Given the description of an element on the screen output the (x, y) to click on. 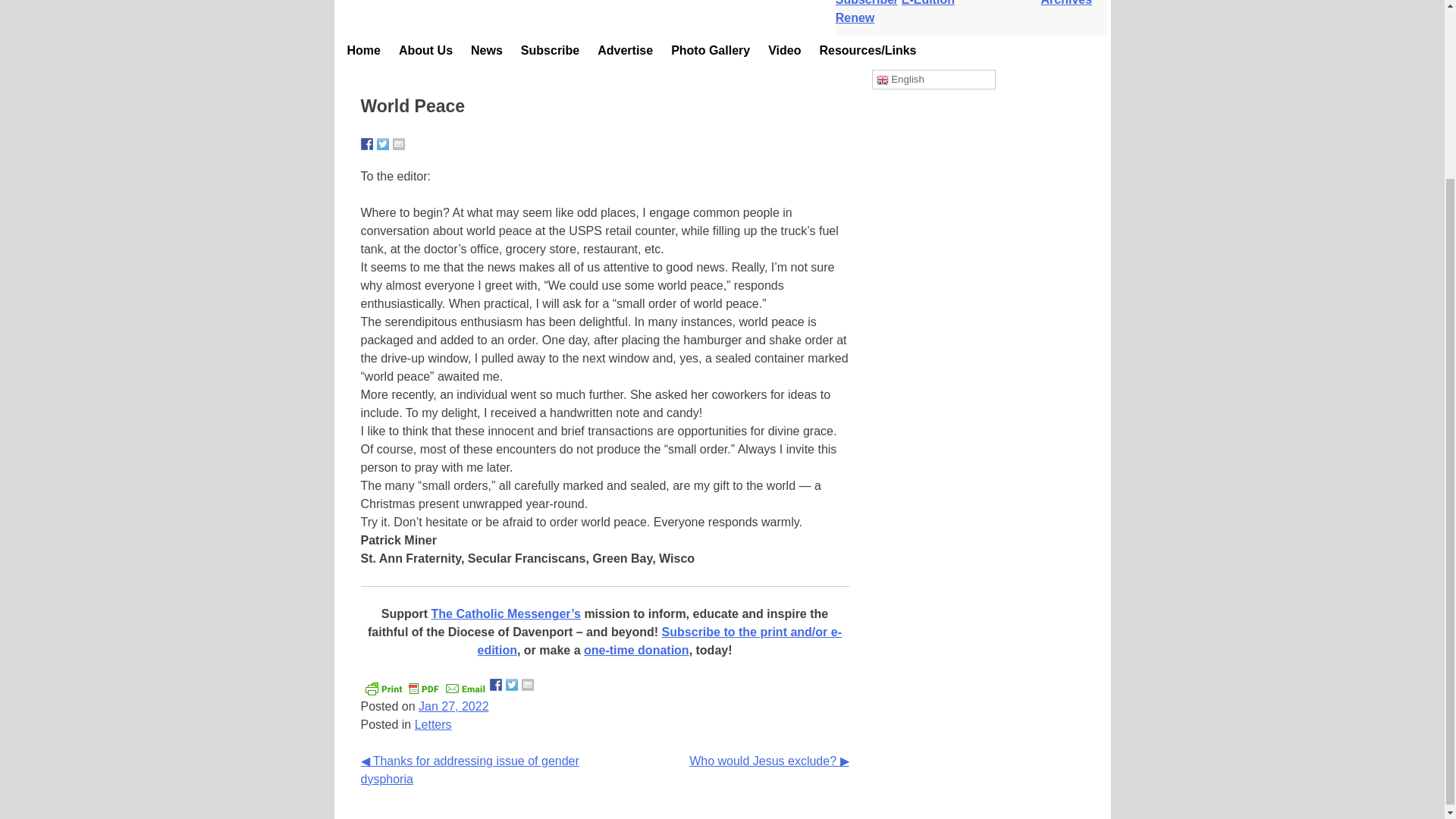
Share on Facebook (366, 145)
Share on Twitter (531, 686)
E-Edition (938, 3)
Advertise (625, 51)
Share by email (547, 686)
Share by email (398, 145)
Share on Facebook (515, 686)
TCM Donate (1006, 3)
Subscribe (549, 51)
About Us (425, 51)
Home (363, 51)
News (487, 51)
Share on Twitter (381, 145)
